Given the description of an element on the screen output the (x, y) to click on. 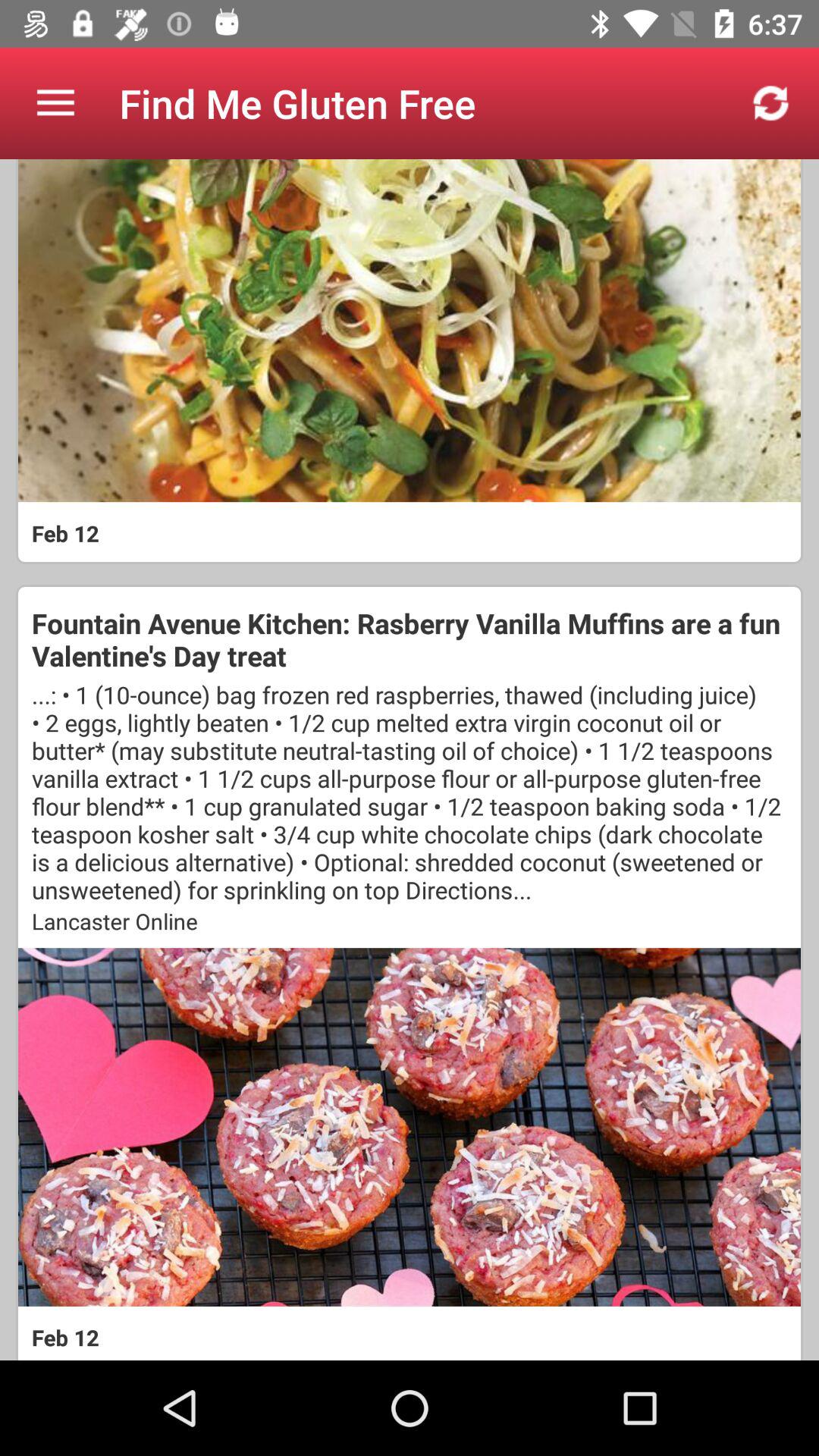
turn off the item at the top right corner (771, 103)
